Given the description of an element on the screen output the (x, y) to click on. 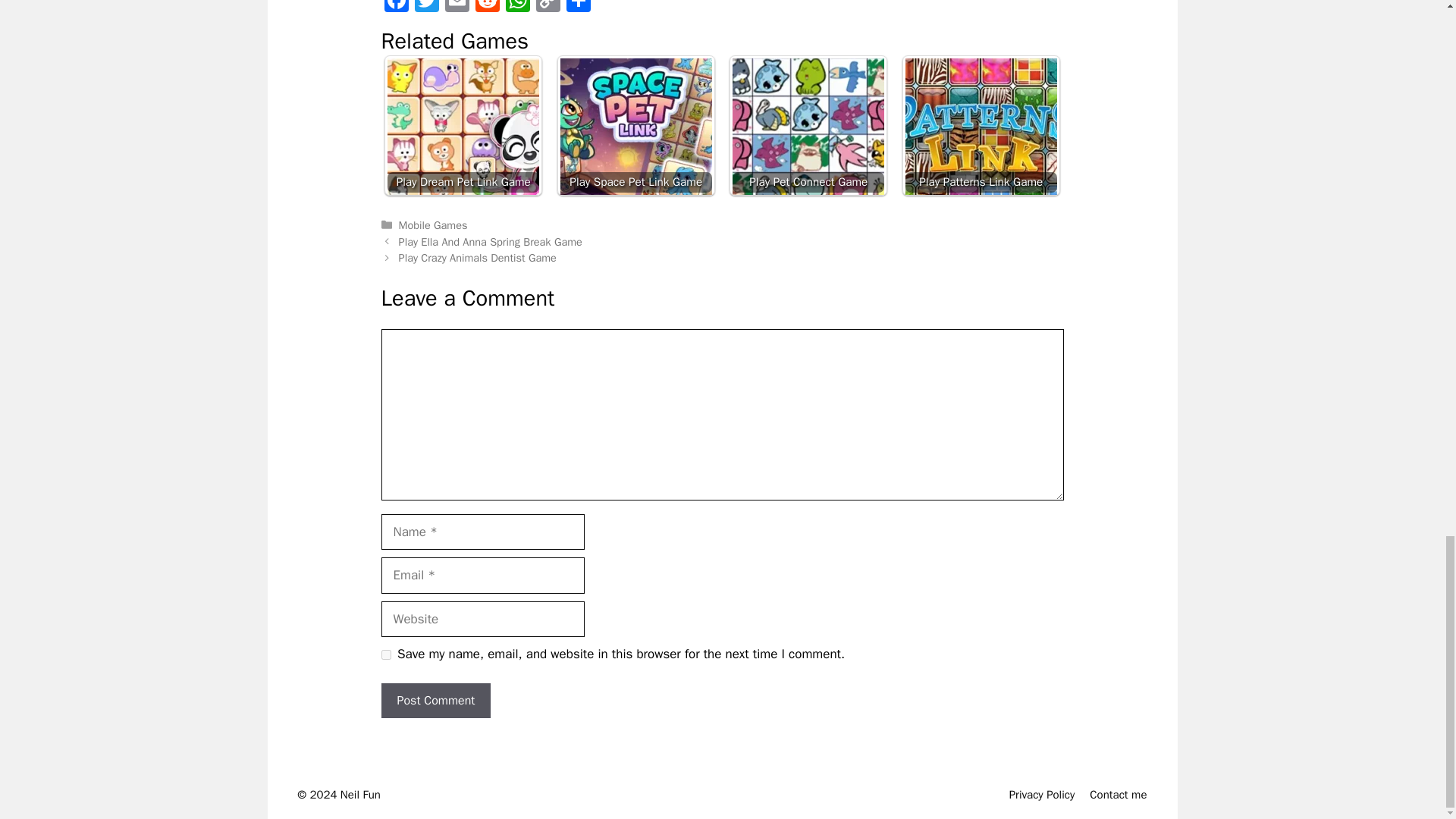
Facebook (395, 8)
Contact me (1118, 794)
Play Ella And Anna Spring Break Game (490, 241)
Play Pet Connect Game (808, 125)
Mobile Games (432, 224)
Reddit (486, 8)
Play Space Pet Link Game (635, 125)
Twitter (425, 8)
Play Pet Connect Game (807, 133)
Play Patterns Link Game (980, 125)
Privacy Policy (1042, 794)
Reddit (486, 8)
Play Space Pet Link Game (635, 133)
WhatsApp (517, 8)
Facebook (395, 8)
